Given the description of an element on the screen output the (x, y) to click on. 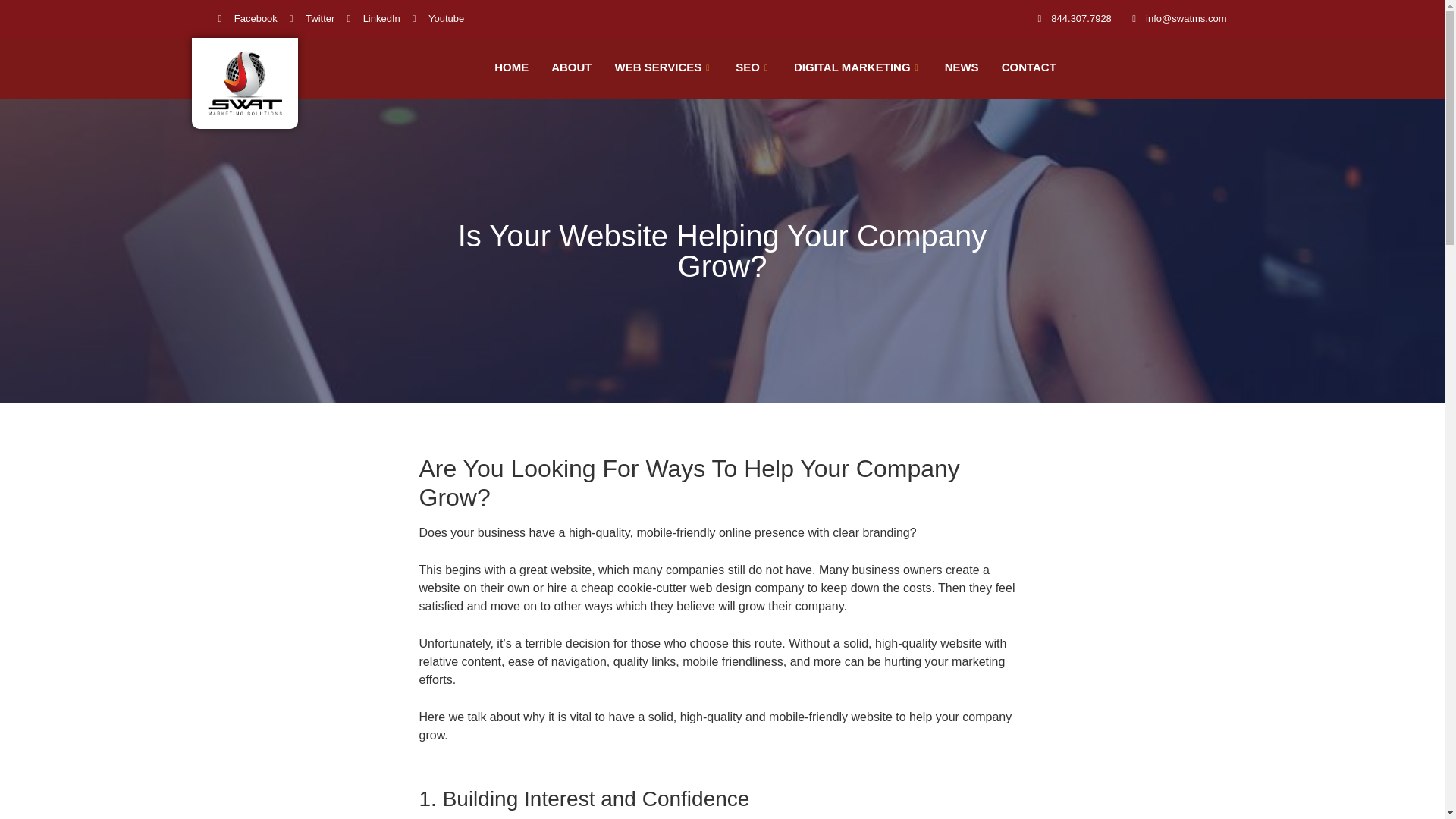
Facebook (248, 18)
Youtube (438, 18)
844.307.7928 (1070, 18)
ABOUT (571, 67)
DIGITAL MARKETING (858, 67)
Twitter (311, 18)
SEO (753, 67)
WEB SERVICES (662, 67)
HOME (511, 67)
LinkedIn (372, 18)
